Given the description of an element on the screen output the (x, y) to click on. 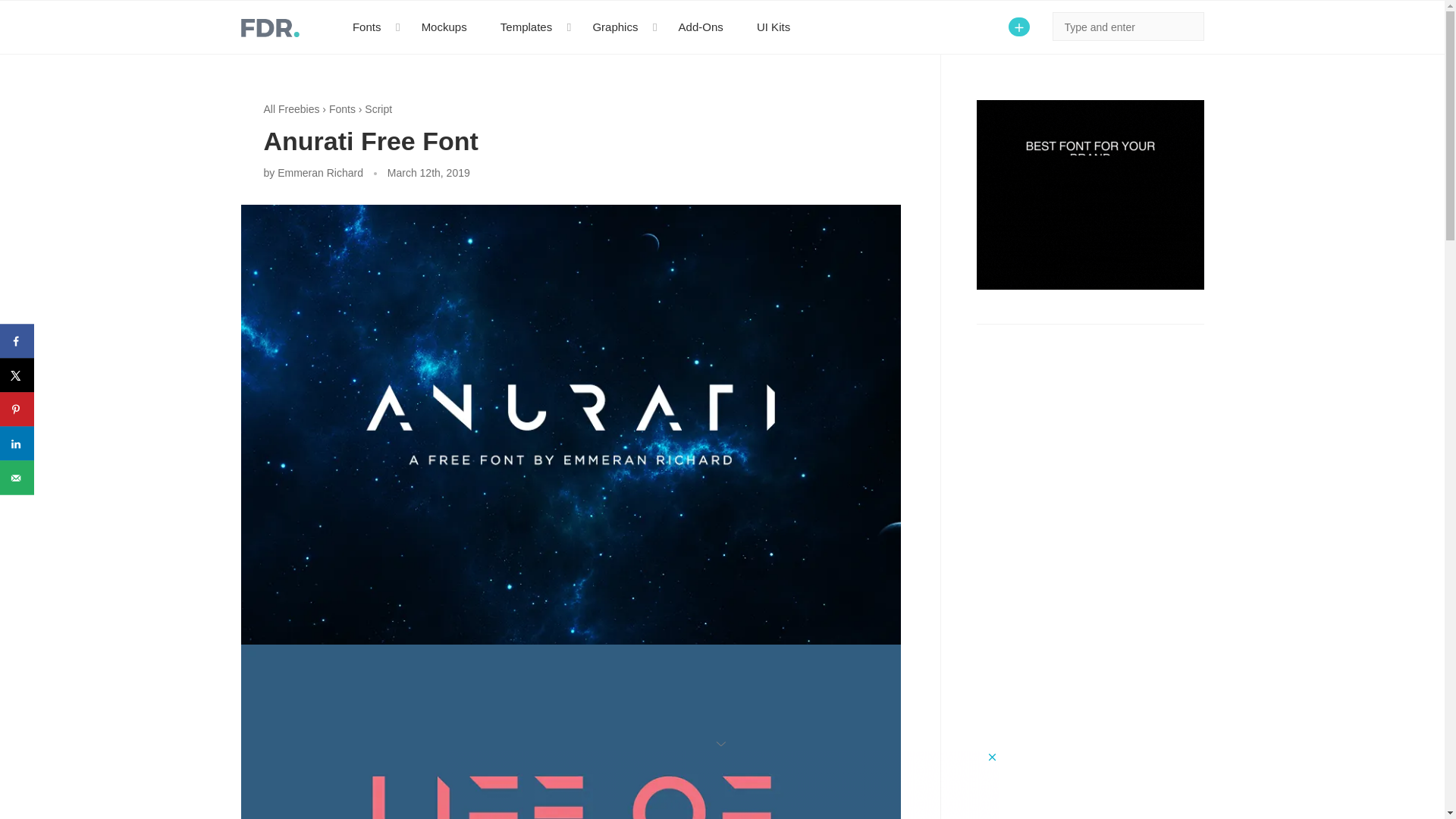
Free Design Resources (270, 27)
All Freebies (291, 109)
Ad.Plus Advertising (722, 742)
Fonts (342, 109)
Script (378, 109)
Graphics (618, 27)
Advertisement (1090, 684)
3rd party ad content (721, 785)
Templates (529, 27)
